Given the description of an element on the screen output the (x, y) to click on. 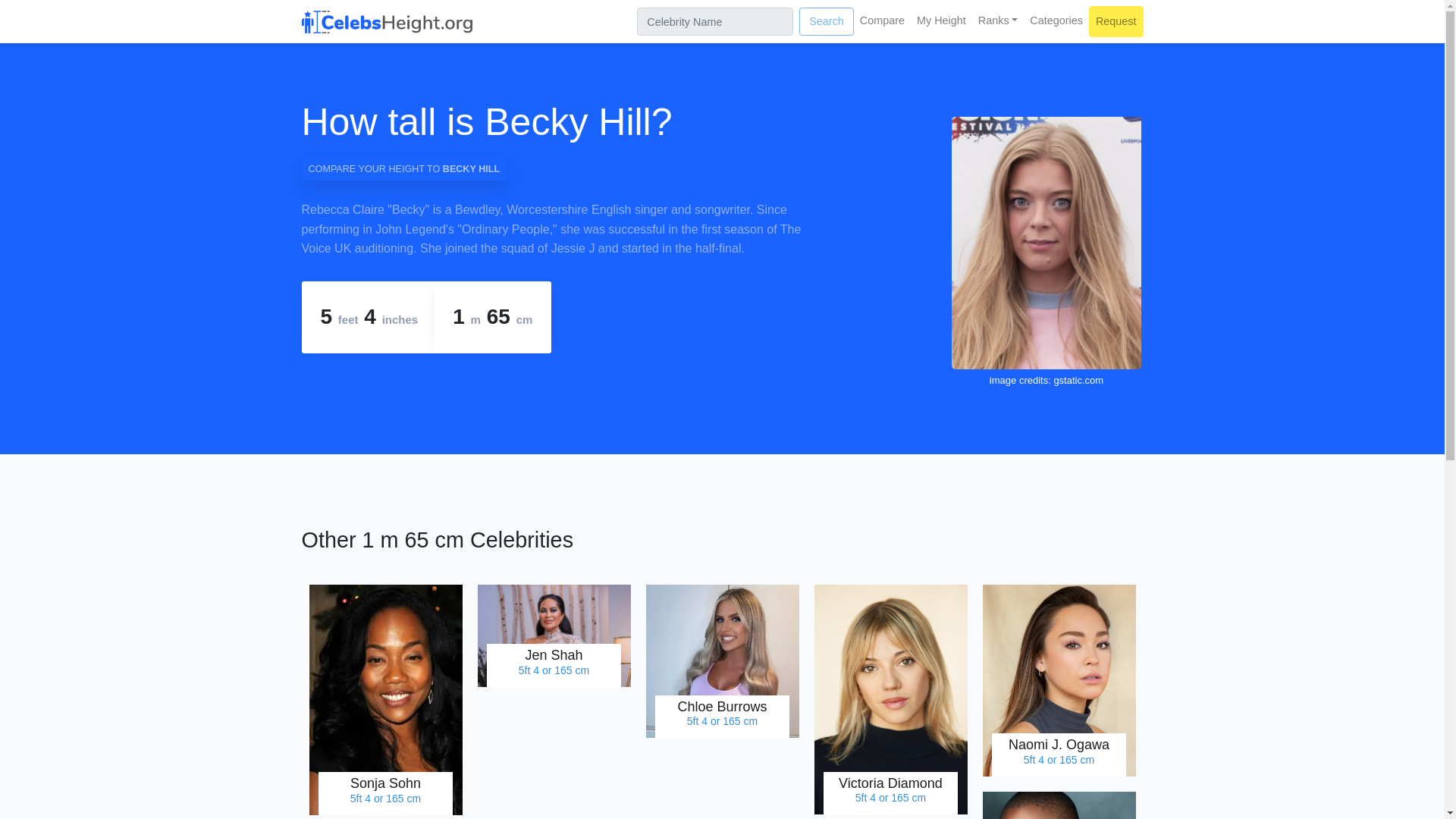
Compare (882, 20)
Becky Hill (567, 121)
COMPARE YOUR HEIGHT TO BECKY HILL (403, 169)
My Height (1058, 805)
Categories (553, 635)
Request (941, 20)
Ranks (722, 660)
